Given the description of an element on the screen output the (x, y) to click on. 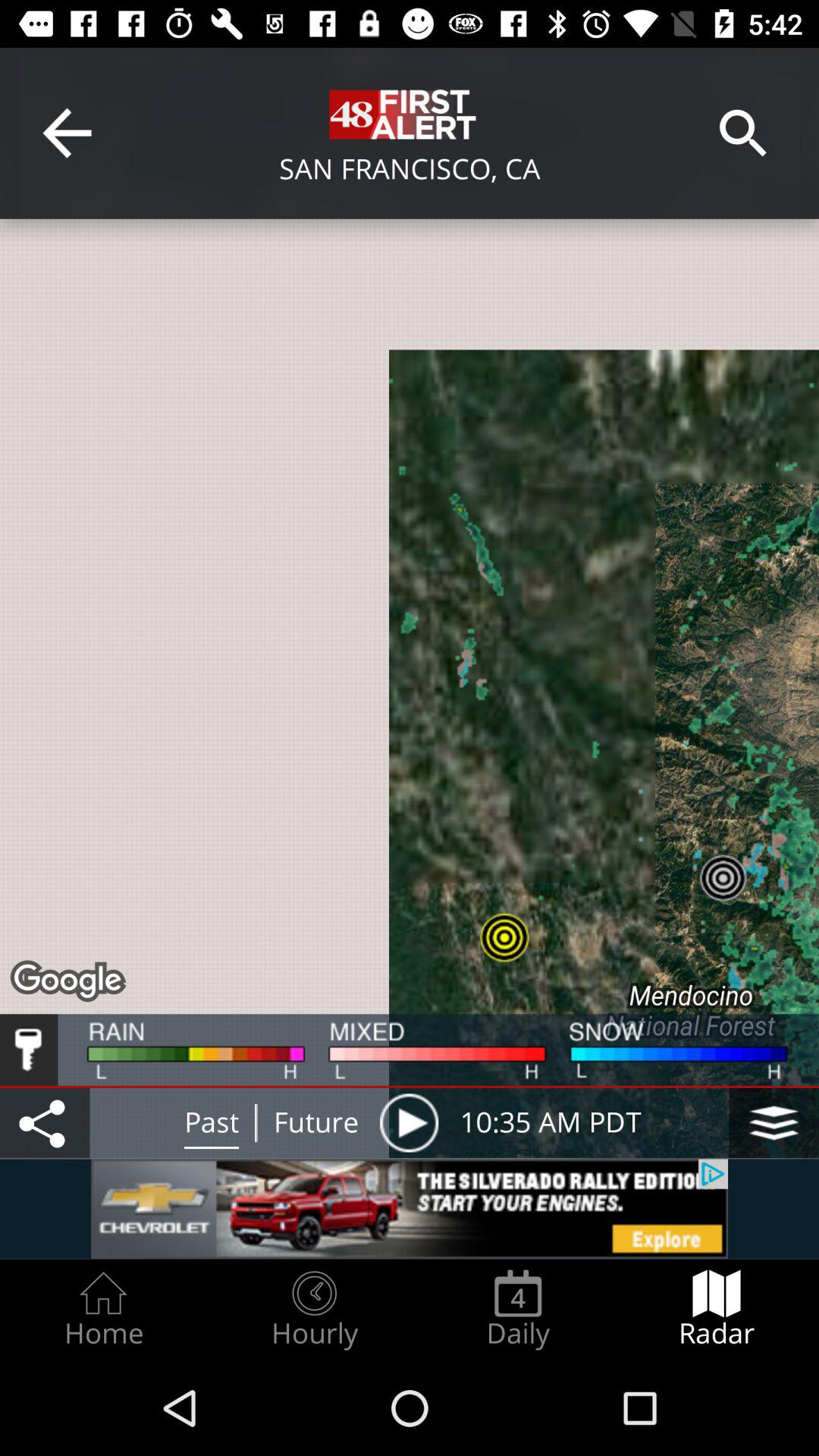
tap the item next to daily radio button (716, 1309)
